Given the description of an element on the screen output the (x, y) to click on. 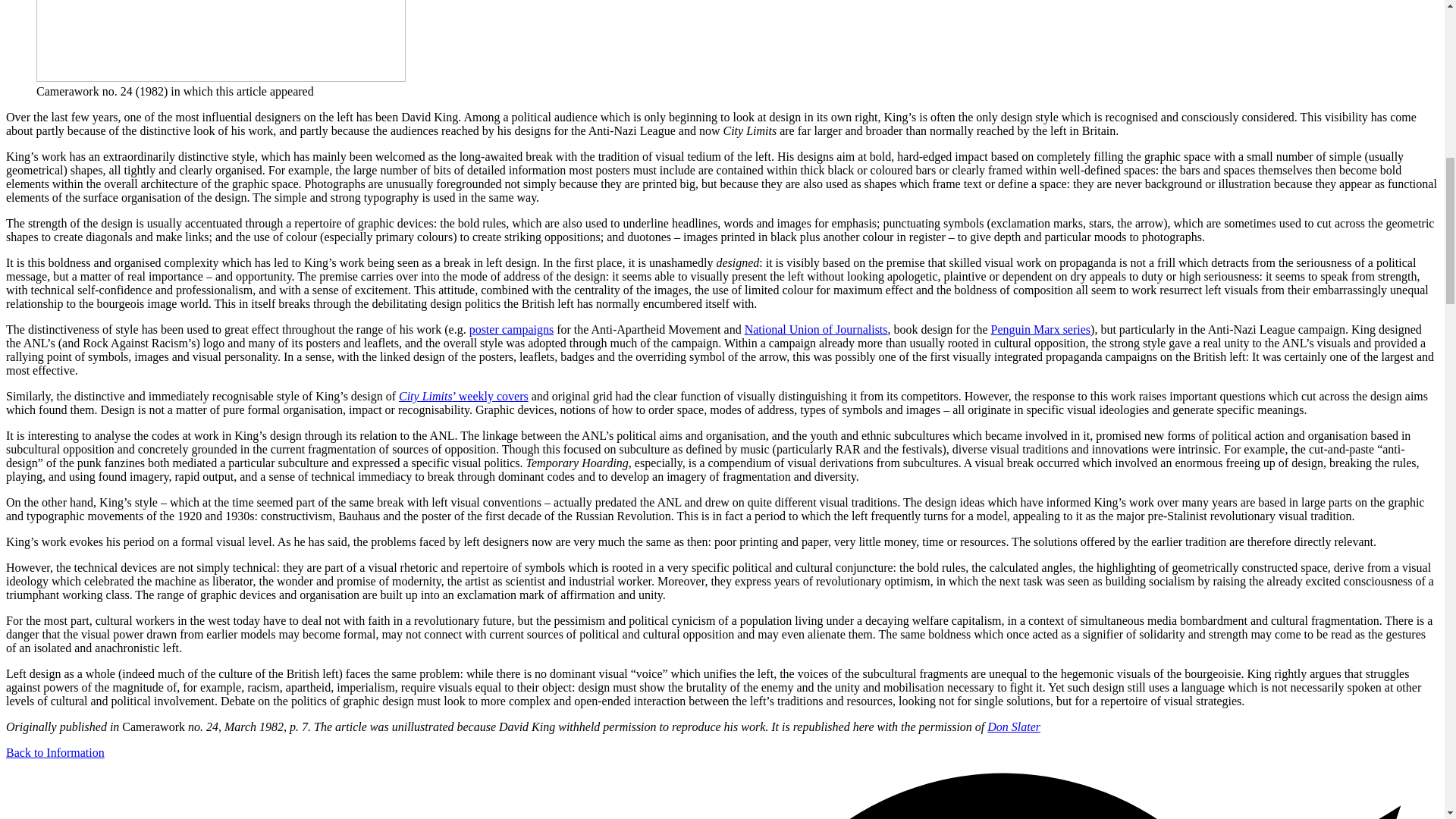
Penguin Marx series (1040, 328)
poster campaigns (511, 328)
Don Slater (1014, 726)
National Union of Journalists (816, 328)
